Given the description of an element on the screen output the (x, y) to click on. 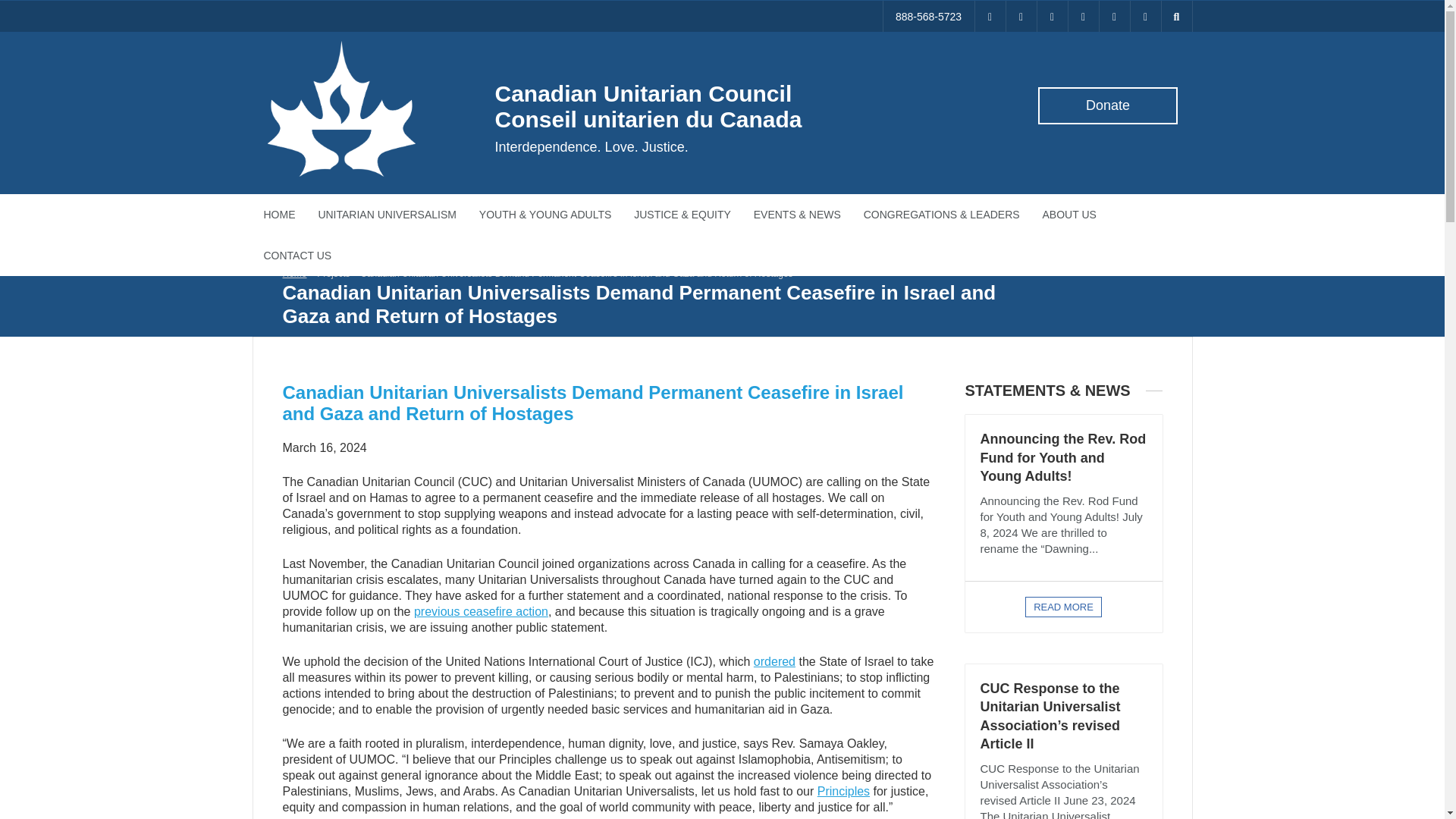
Announcing the Rev. Rod Fund for Youth and Young Adults! (1062, 457)
Search (22, 8)
UNITARIAN UNIVERSALISM (386, 214)
Instagram (1114, 15)
Read more (1063, 607)
888-568-5723 (928, 15)
Vimeo (1051, 15)
HOME (278, 214)
YouTube (648, 105)
Donate (1082, 15)
Facebook (1106, 105)
Twitter (990, 15)
